Given the description of an element on the screen output the (x, y) to click on. 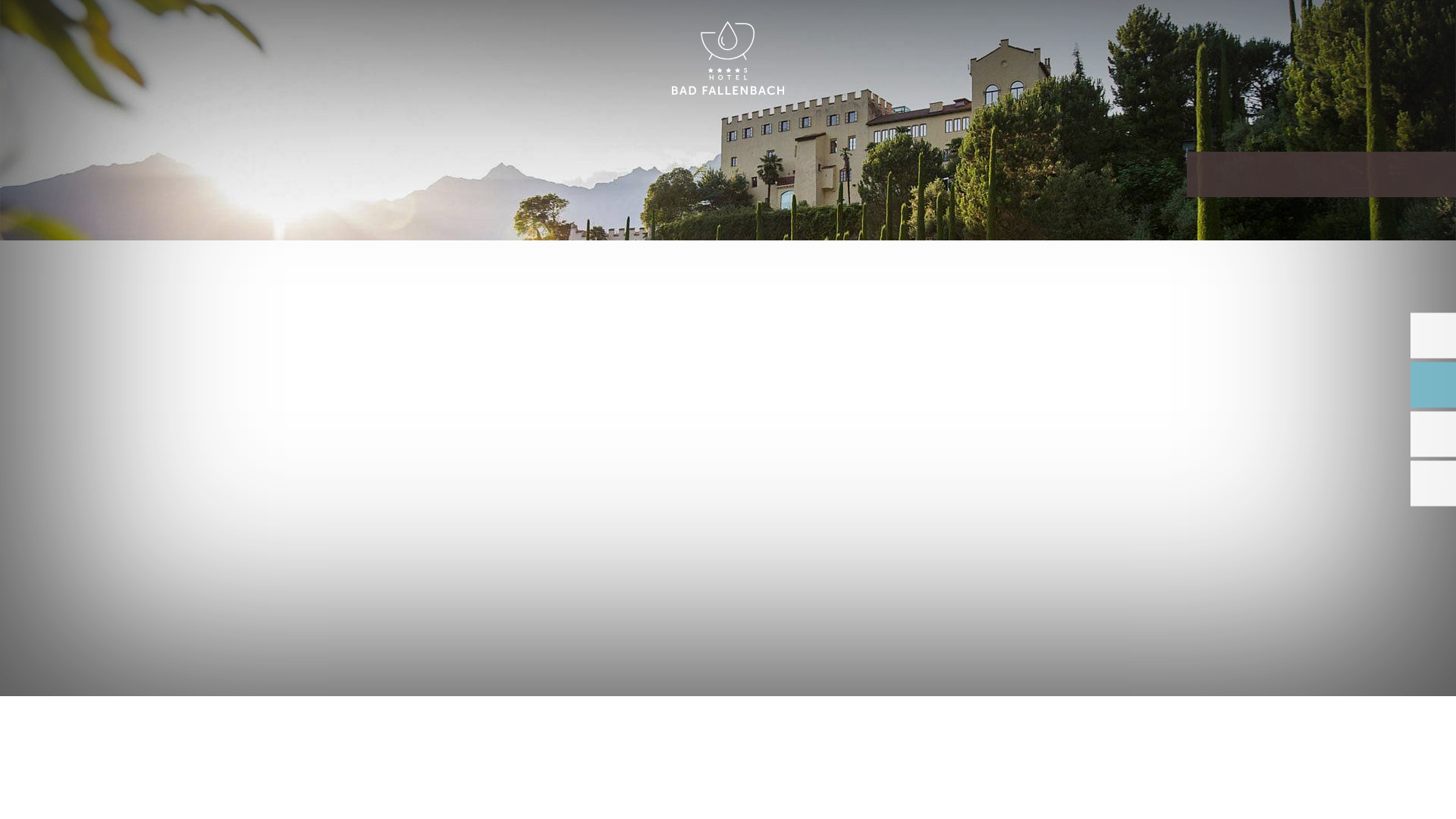
HOTEL BAD FALLENBACH (727, 59)
ENGLISH (1291, 29)
